Given the description of an element on the screen output the (x, y) to click on. 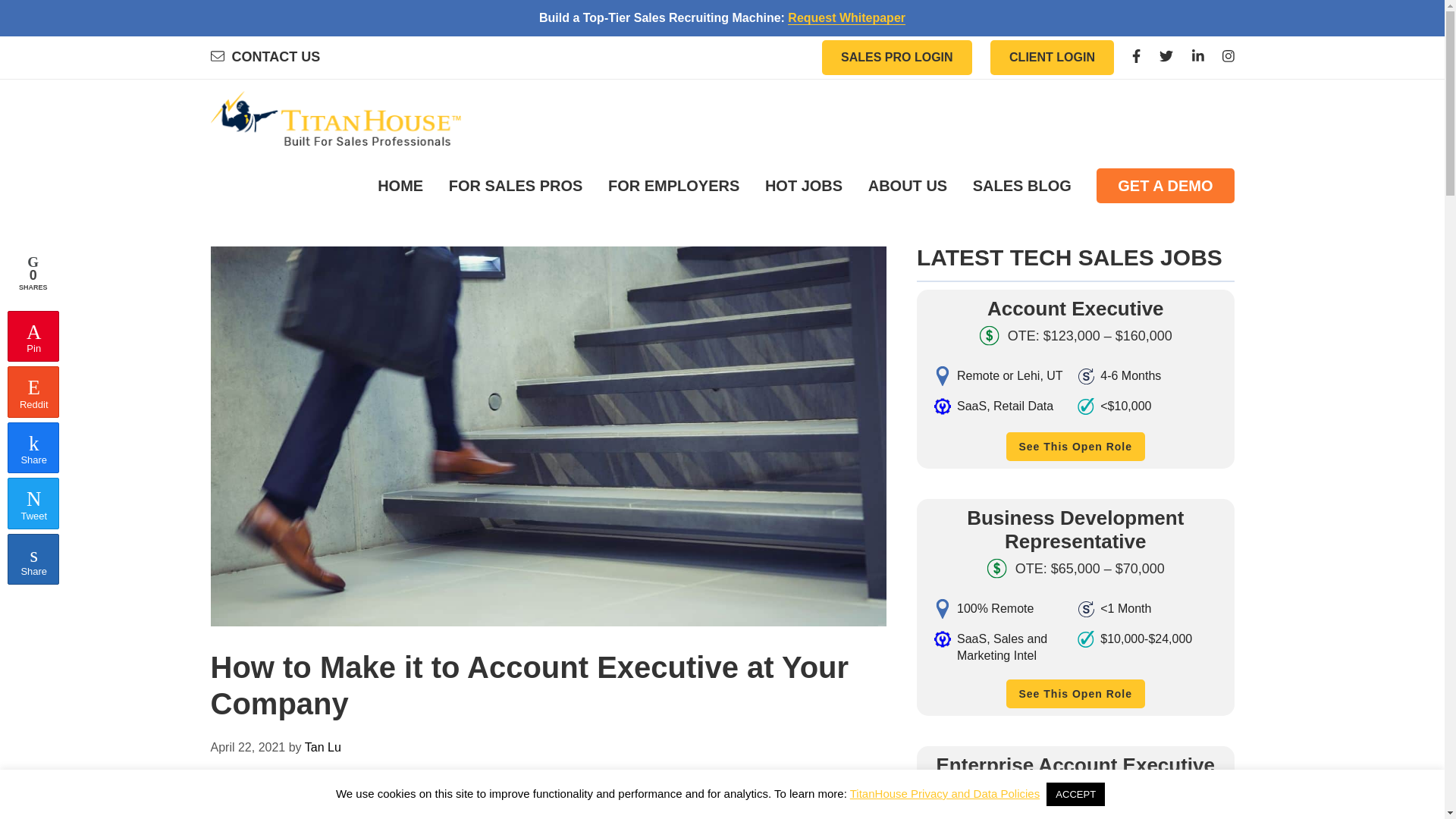
HOME (400, 185)
ABOUT US (907, 185)
Tan Lu (322, 747)
Titanhouse (336, 123)
Linkedin (1198, 56)
Titanhouse (336, 123)
HOT JOBS (804, 185)
SALES BLOG (1021, 185)
CLIENT LOGIN (1051, 57)
FOR EMPLOYERS (673, 185)
  CONTACT US (265, 56)
Request Whitepaper (846, 18)
Twitter (1165, 56)
SALES PRO LOGIN (897, 57)
